Given the description of an element on the screen output the (x, y) to click on. 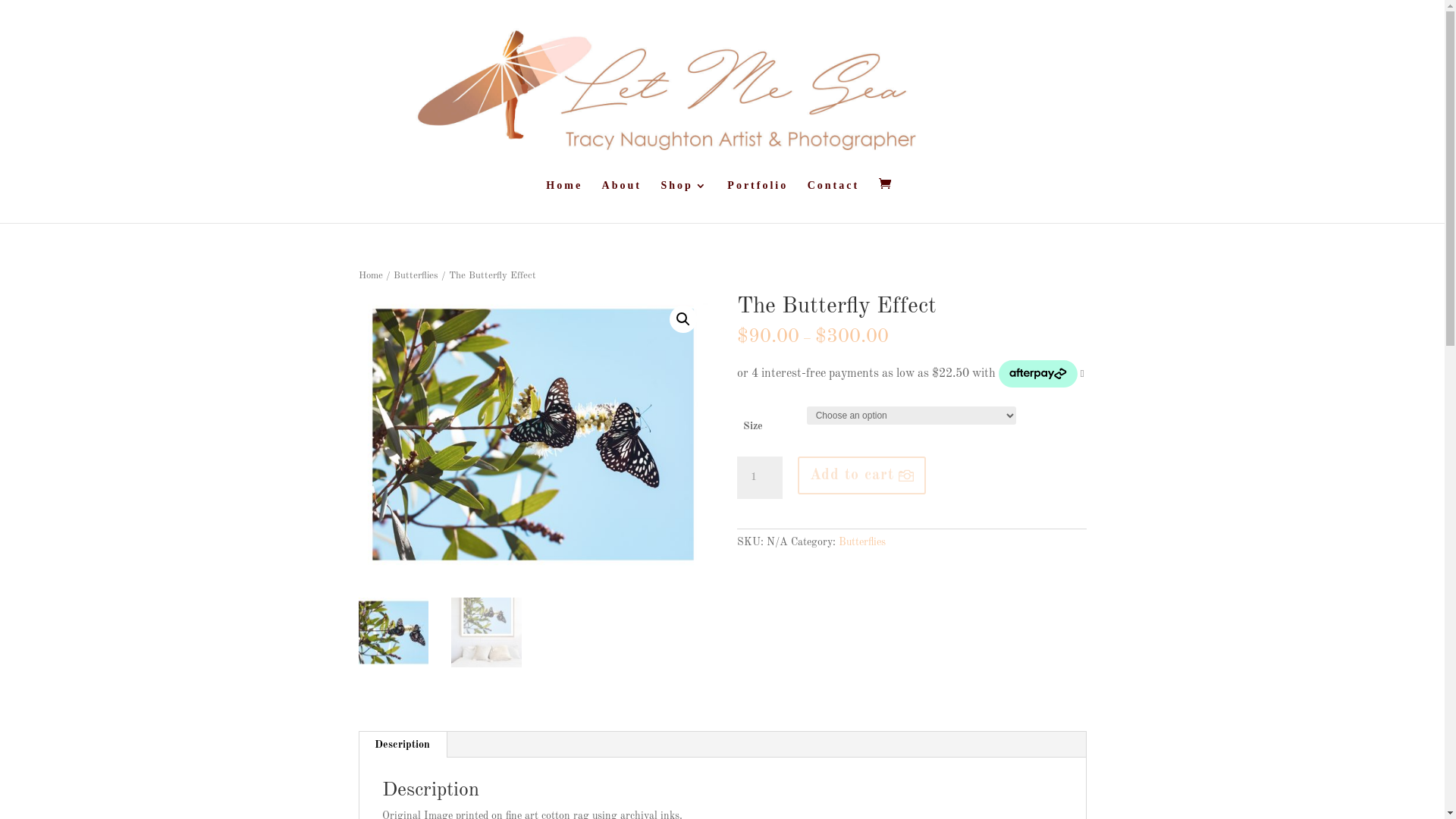
Contact Element type: text (833, 201)
Home Element type: text (564, 201)
Web Butterflies The bufferfly effect Element type: hover (532, 434)
Shop Element type: text (683, 201)
Home Element type: text (369, 275)
Add to cart Element type: text (861, 475)
About Element type: text (621, 201)
Portfolio Element type: text (757, 201)
Qty Element type: hover (759, 477)
Butterflies Element type: text (414, 275)
Butterflies Element type: text (861, 541)
Description Element type: text (401, 744)
